Given the description of an element on the screen output the (x, y) to click on. 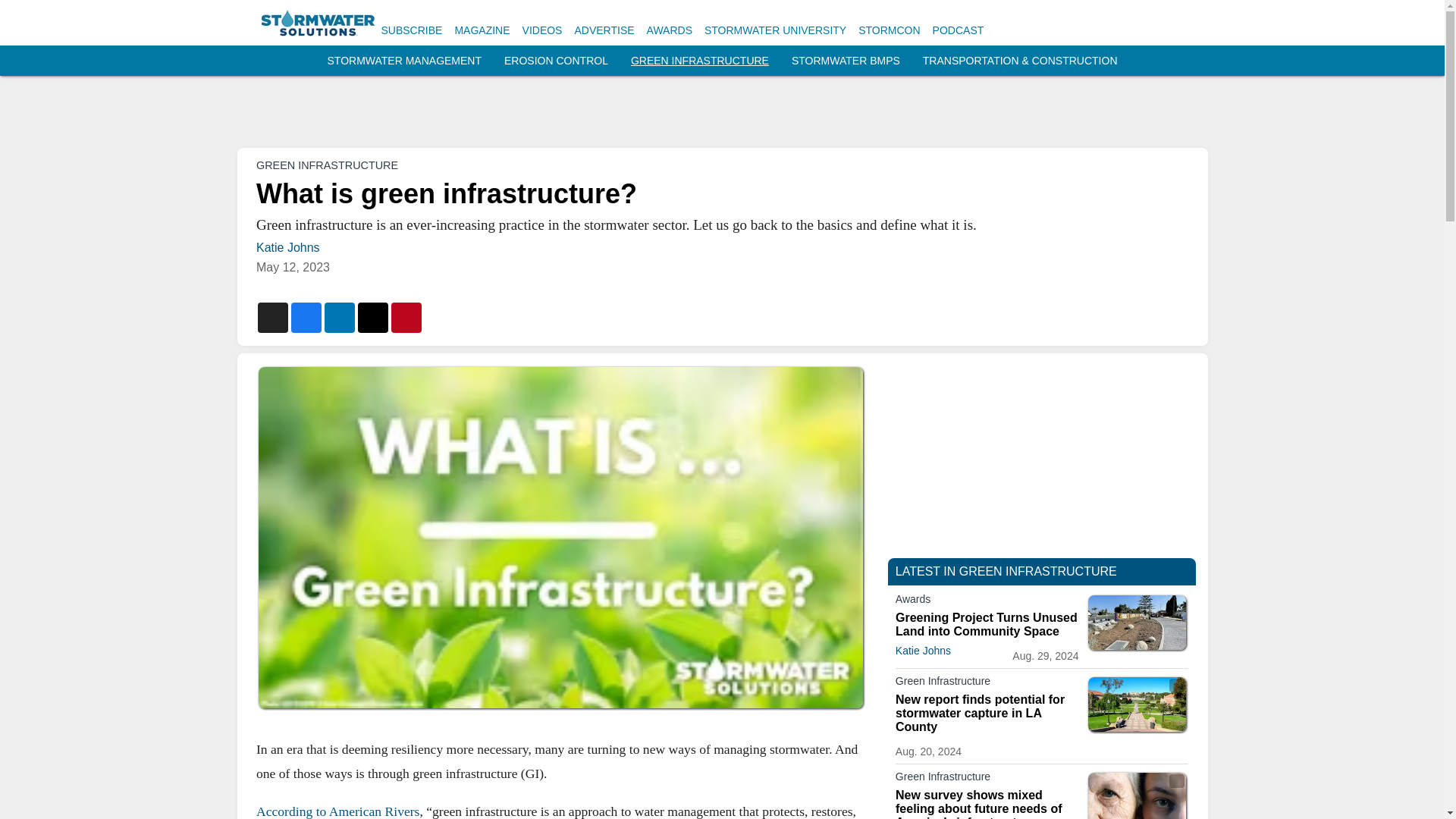
GREEN INFRASTRUCTURE (326, 164)
Awards (986, 601)
EROSION CONTROL (555, 60)
MAGAZINE (481, 30)
Katie Johns (288, 246)
STORMWATER BMPS (845, 60)
According to American Rivers (337, 810)
Greening Project Turns Unused Land into Community Space (986, 624)
AWARDS (669, 30)
PODCAST (958, 30)
